Given the description of an element on the screen output the (x, y) to click on. 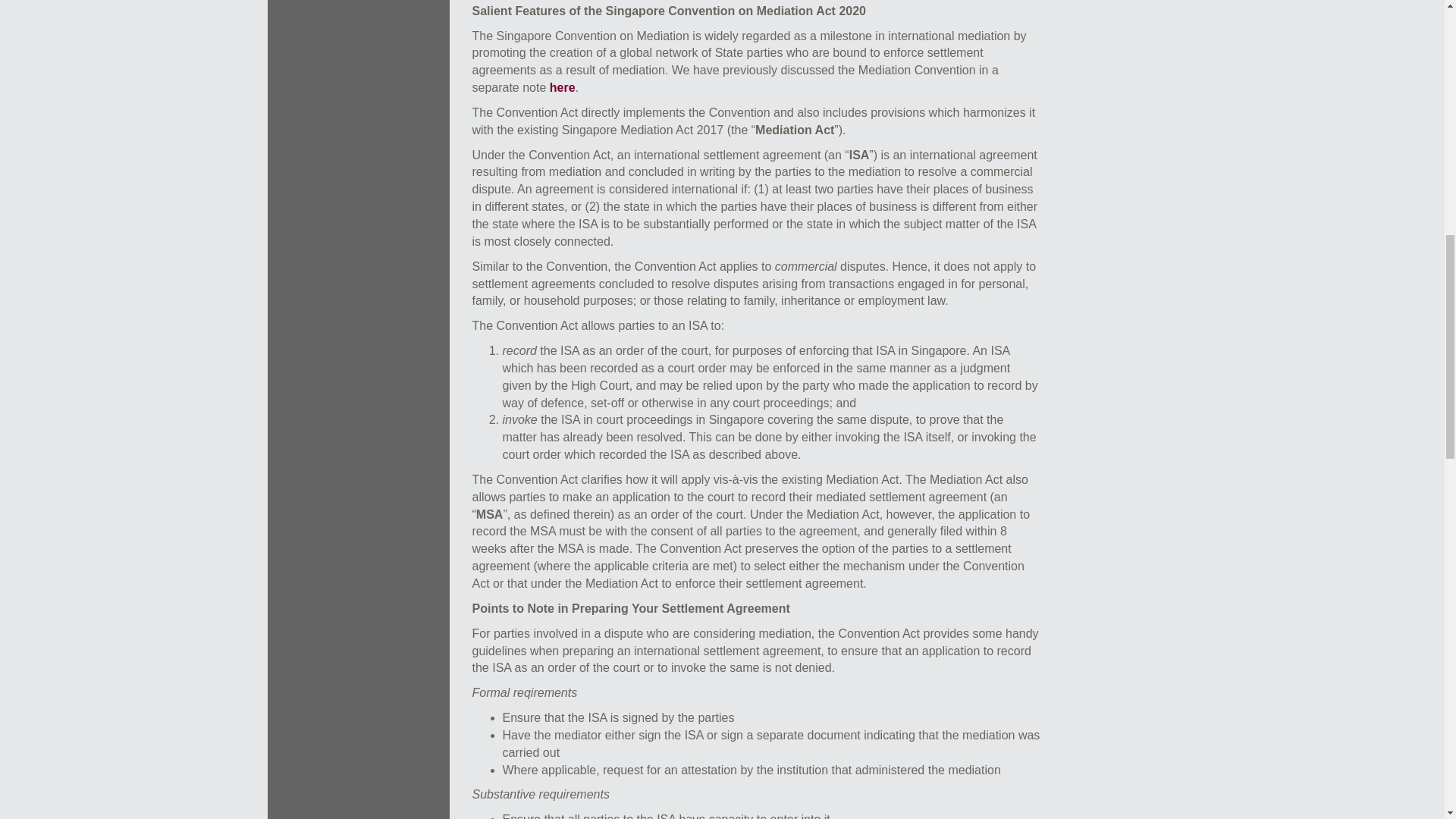
here (562, 87)
